Given the description of an element on the screen output the (x, y) to click on. 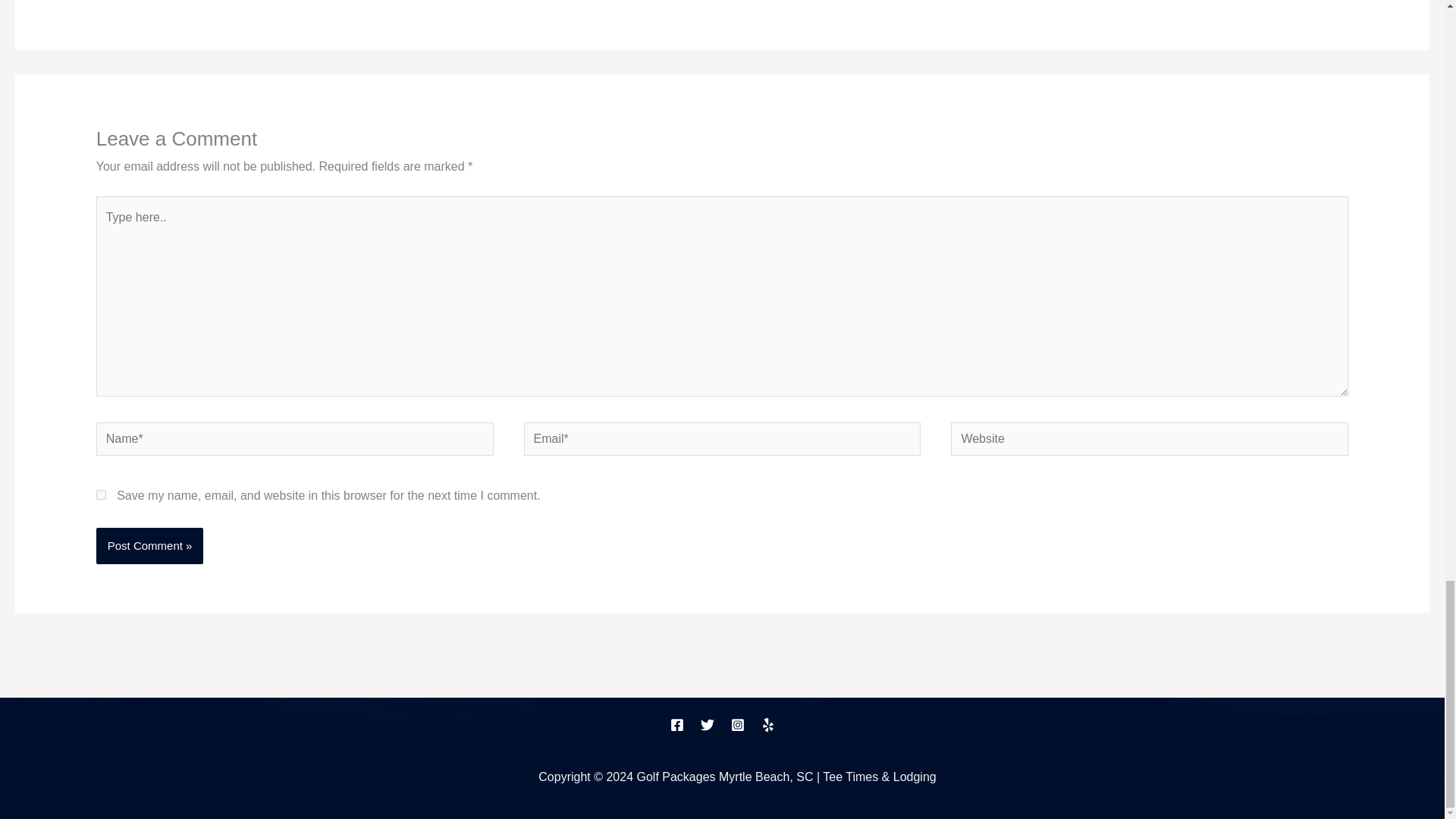
yes (101, 494)
